Given the description of an element on the screen output the (x, y) to click on. 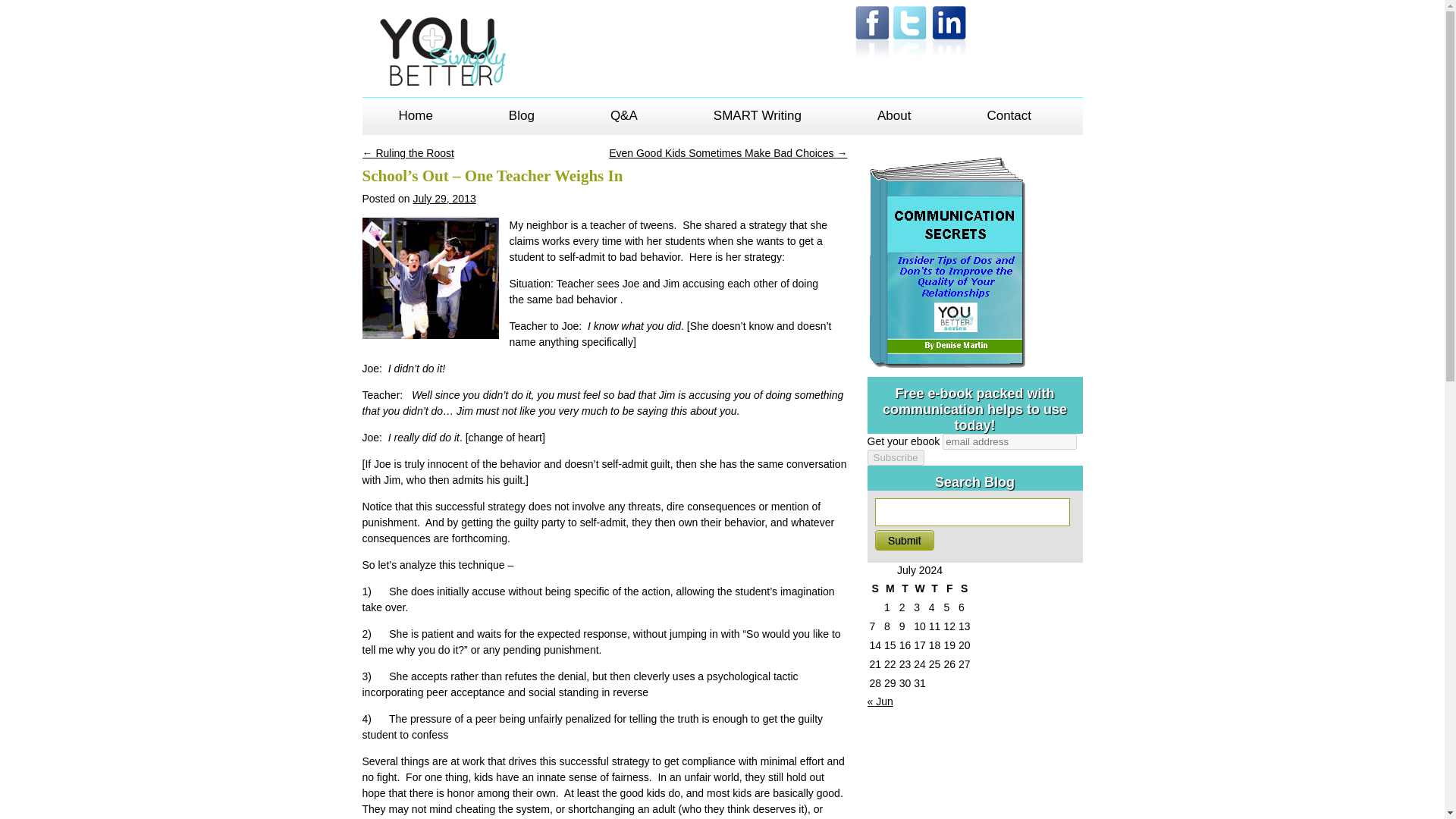
SMART Writing (757, 122)
Subscribe (895, 457)
Contact (1008, 122)
Home (415, 122)
About (894, 122)
Search (904, 539)
July 29, 2013 (444, 198)
Subscribe (895, 457)
1:30 am (444, 198)
Blog (520, 122)
